Given the description of an element on the screen output the (x, y) to click on. 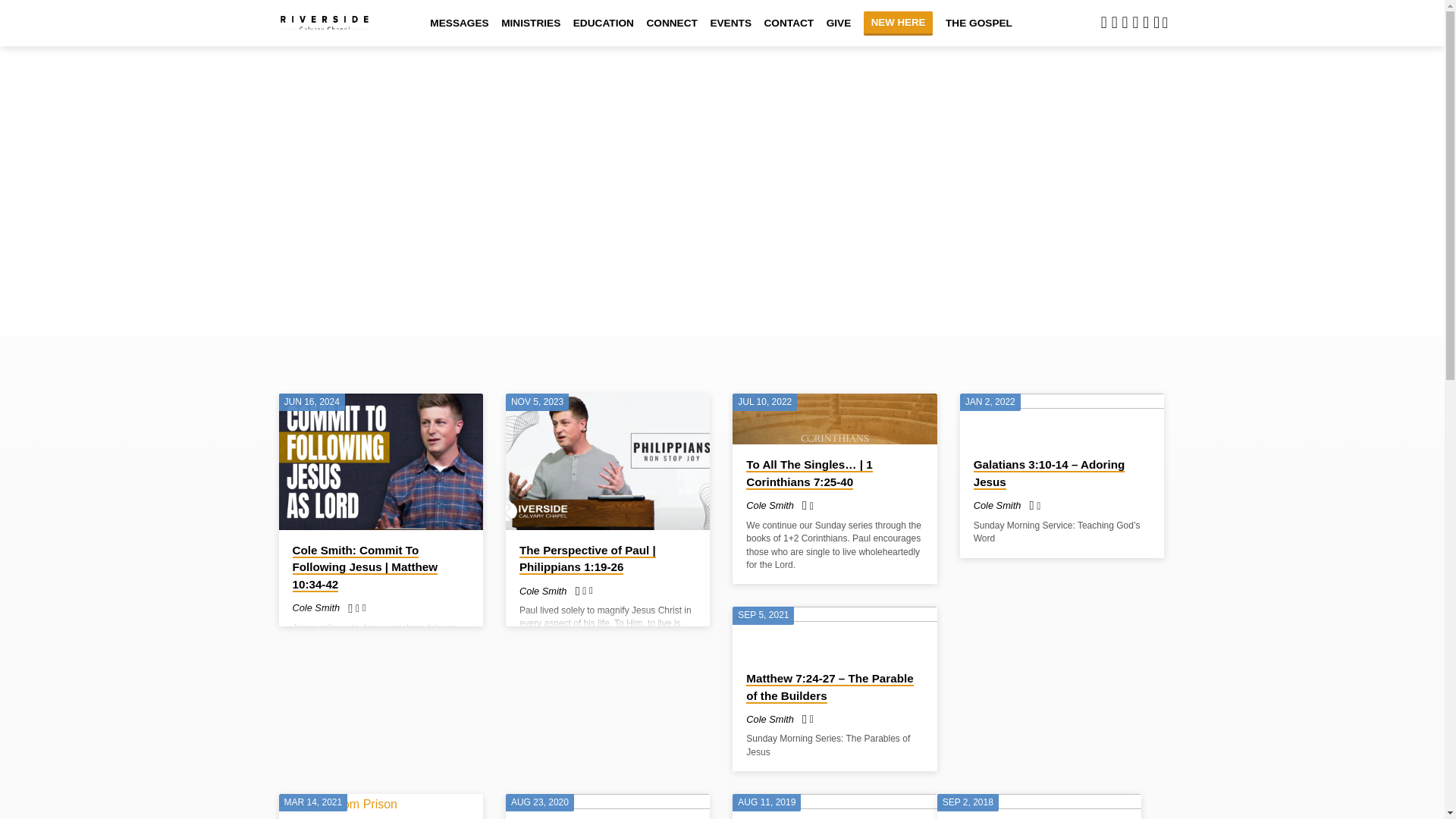
MESSAGES (458, 32)
MINISTRIES (530, 32)
